Given the description of an element on the screen output the (x, y) to click on. 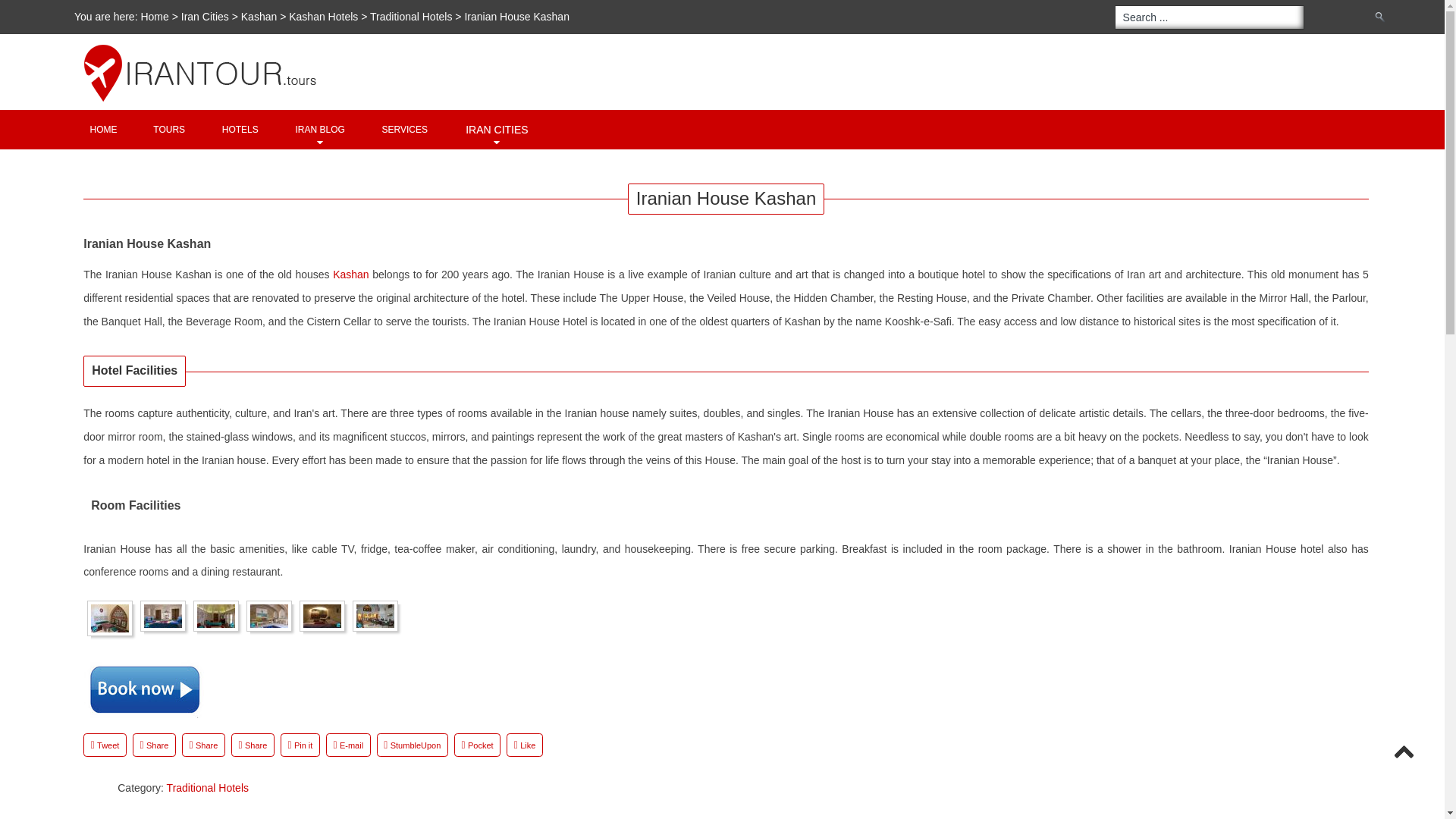
SERVICES (404, 129)
Home (103, 129)
Search ... (1209, 16)
Traditional Hotels (410, 16)
TOURS (168, 129)
Kashan (350, 274)
Kashan Hotels (324, 16)
irantour.tours (735, 44)
Home (154, 16)
HOME (103, 129)
